Given the description of an element on the screen output the (x, y) to click on. 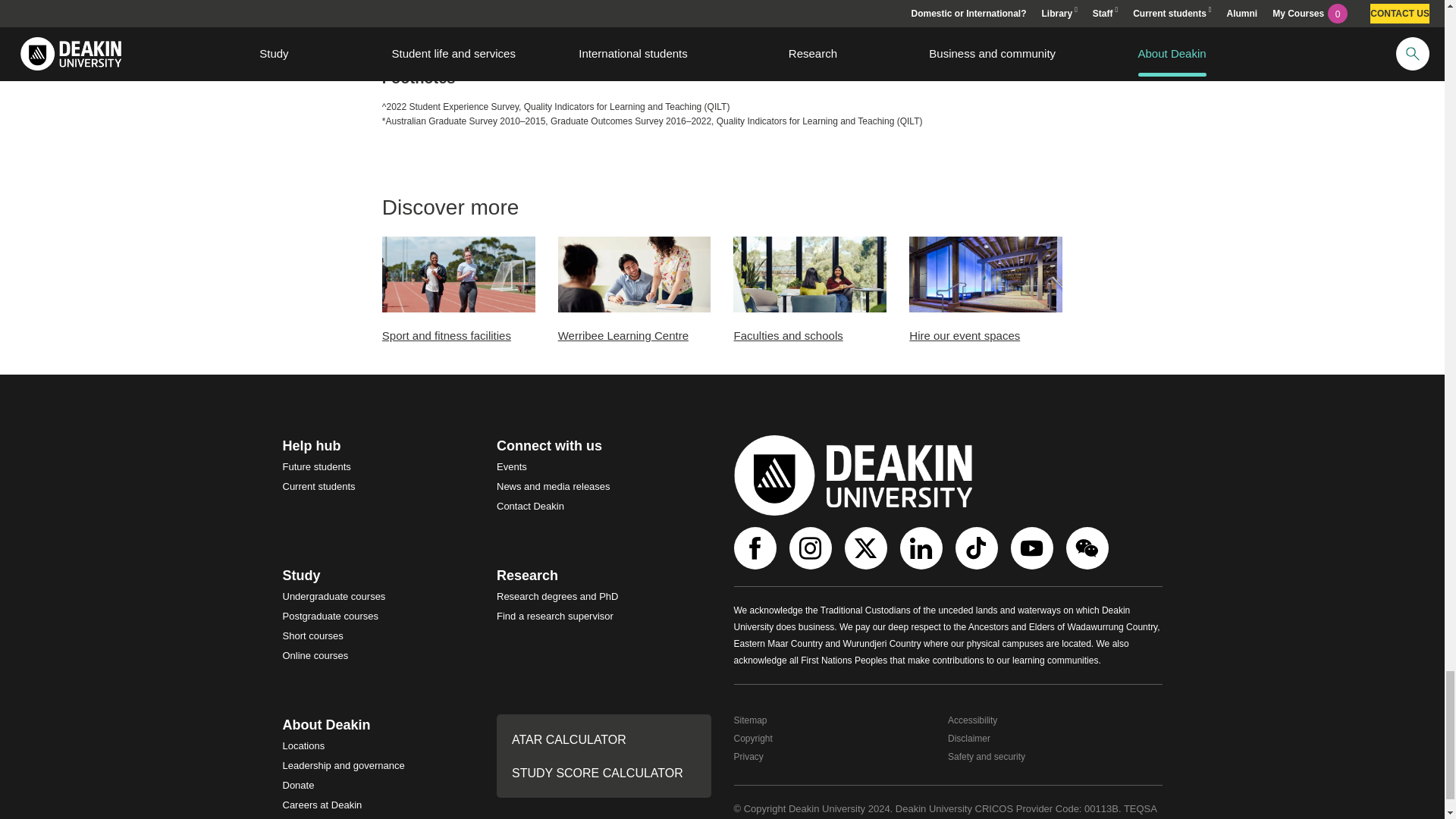
TikTok (978, 548)
Twitter (867, 548)
Facebook (756, 548)
Youtube (1033, 548)
Linkedin (921, 548)
Instagram (811, 548)
